Given the description of an element on the screen output the (x, y) to click on. 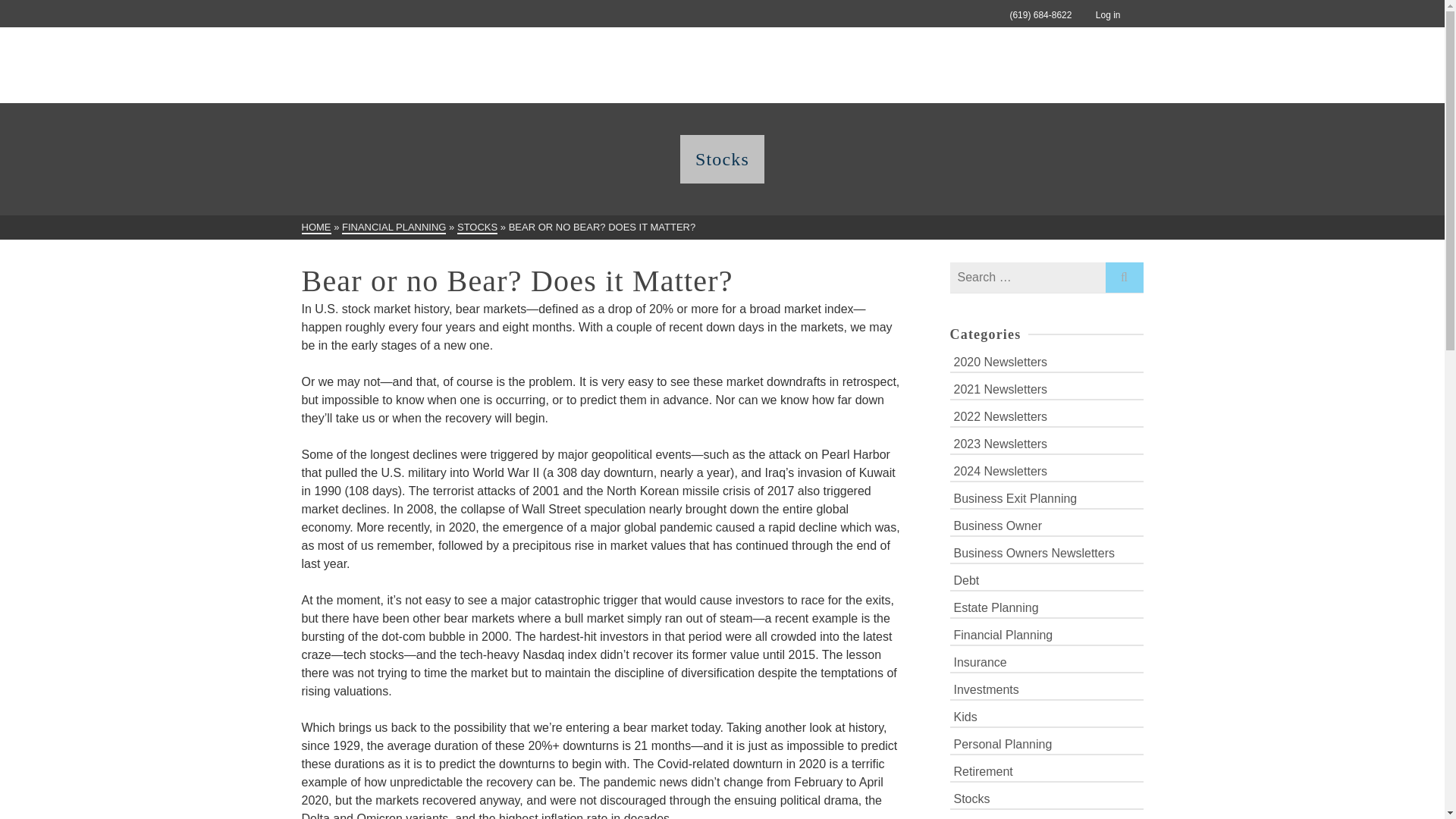
2023 Newsletters (1045, 443)
Log in (1095, 14)
2020 Newsletters (1045, 361)
ABOUT (778, 64)
Business Owner (1045, 525)
HOME (316, 227)
STOCKS (477, 227)
2022 Newsletters (1045, 415)
2024 Newsletters (1045, 470)
SERVICES (929, 64)
